Given the description of an element on the screen output the (x, y) to click on. 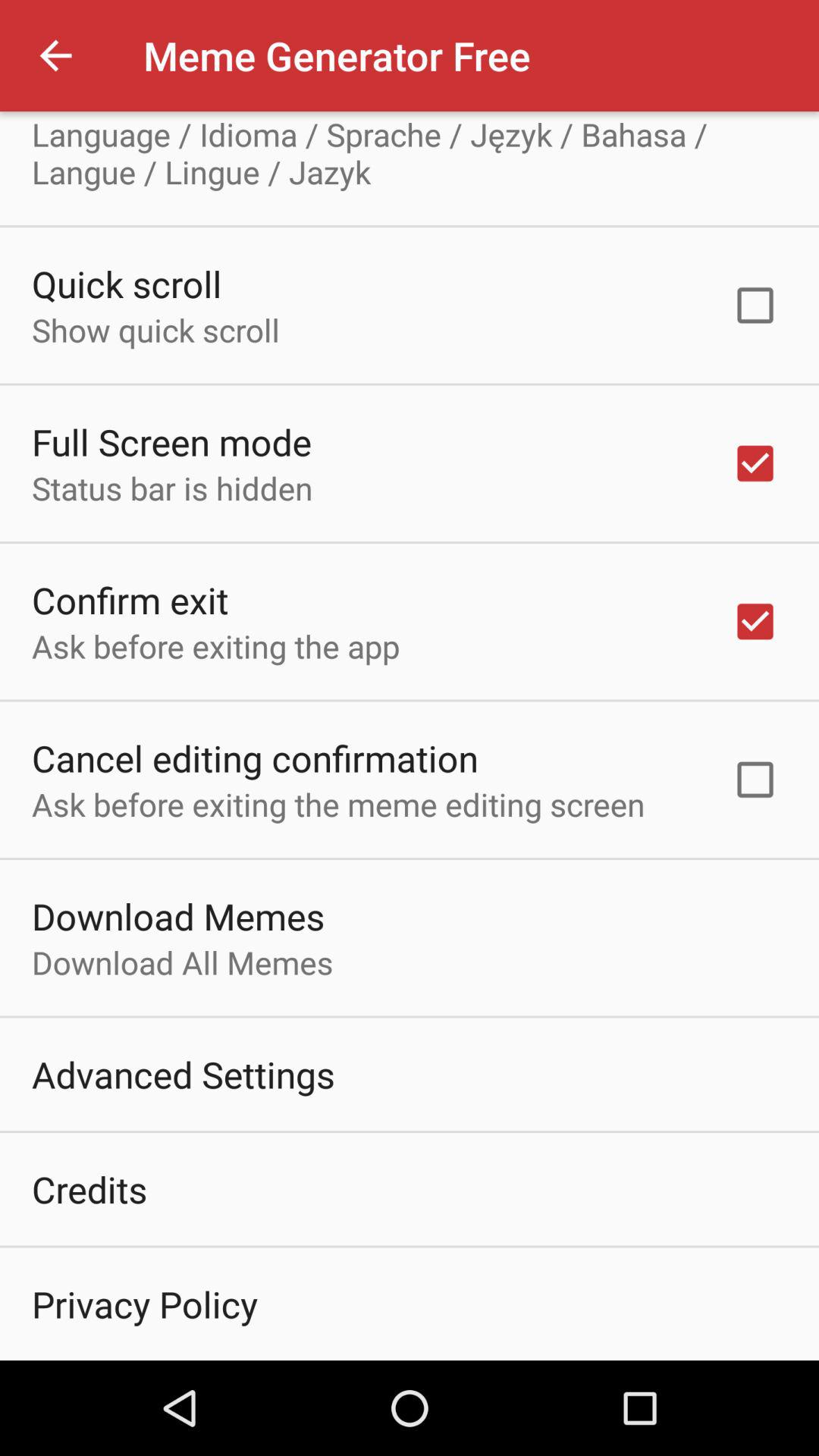
jump to confirm exit item (129, 599)
